Given the description of an element on the screen output the (x, y) to click on. 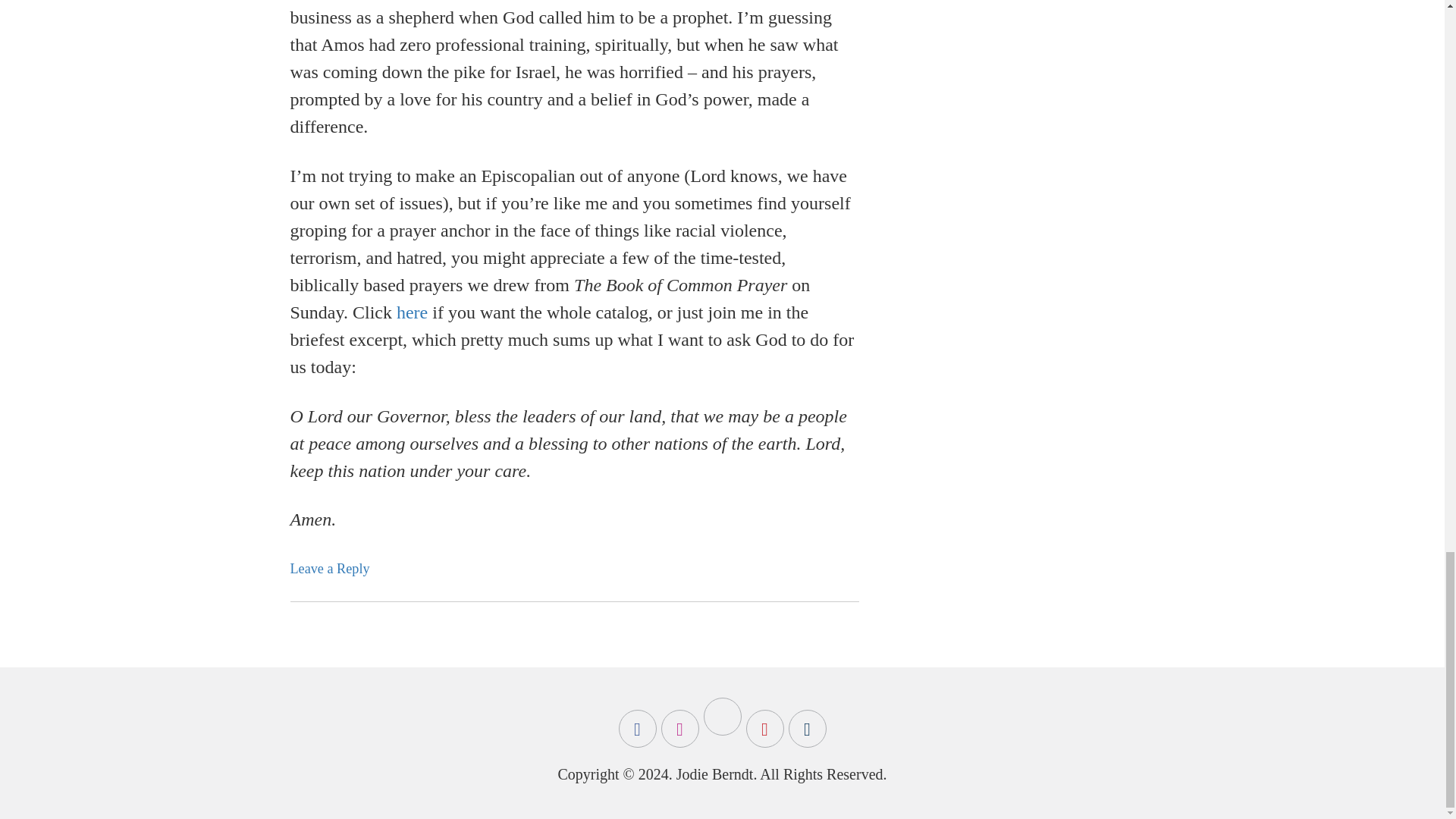
Leave a Reply (329, 568)
here (412, 312)
